Given the description of an element on the screen output the (x, y) to click on. 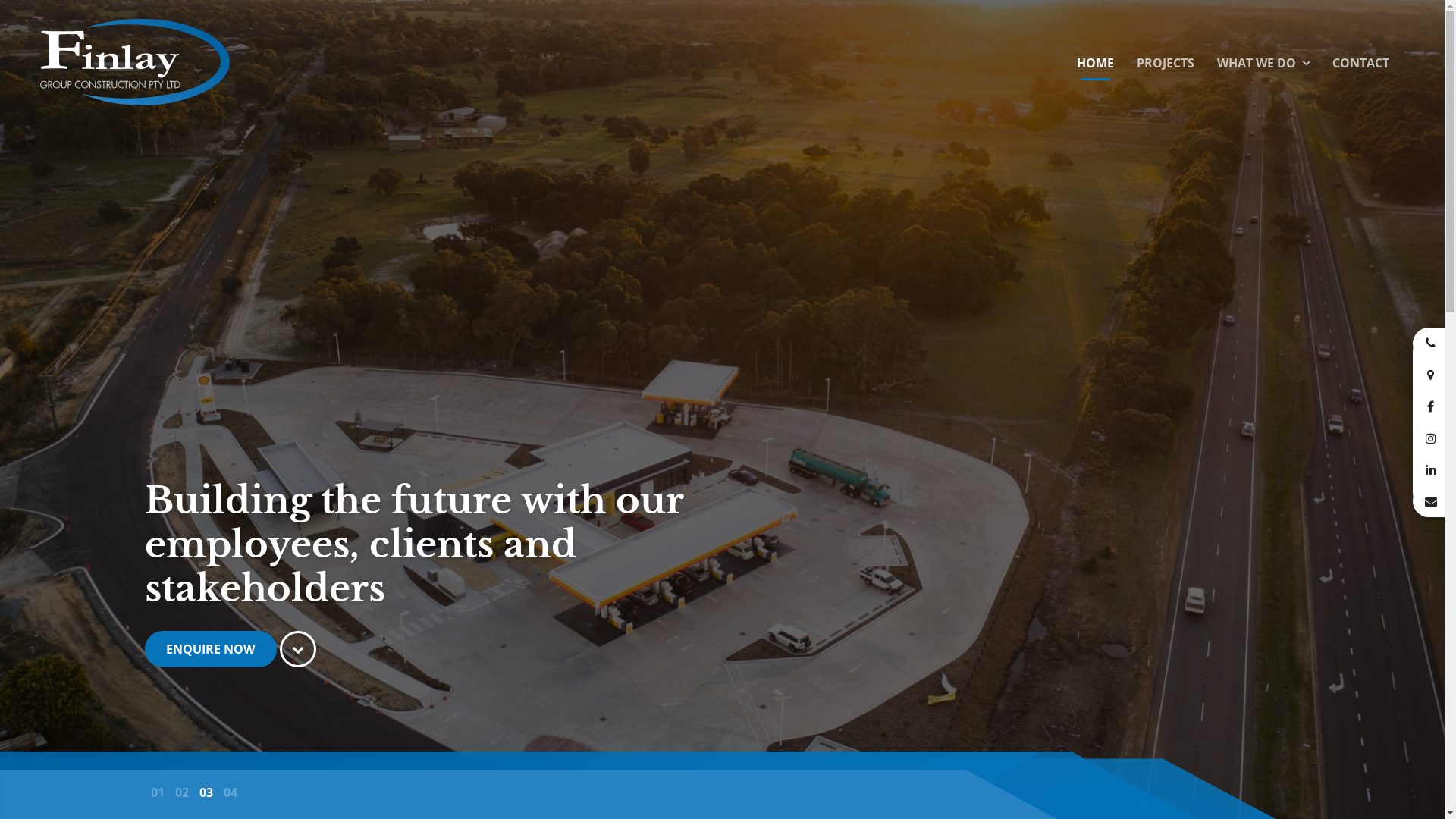
PROJECTS Element type: text (1165, 63)
HOME Element type: text (1095, 63)
ENQUIRE NOW Element type: text (210, 648)
WHAT WE DO Element type: text (1263, 63)
CONTACT Element type: text (1360, 63)
